Given the description of an element on the screen output the (x, y) to click on. 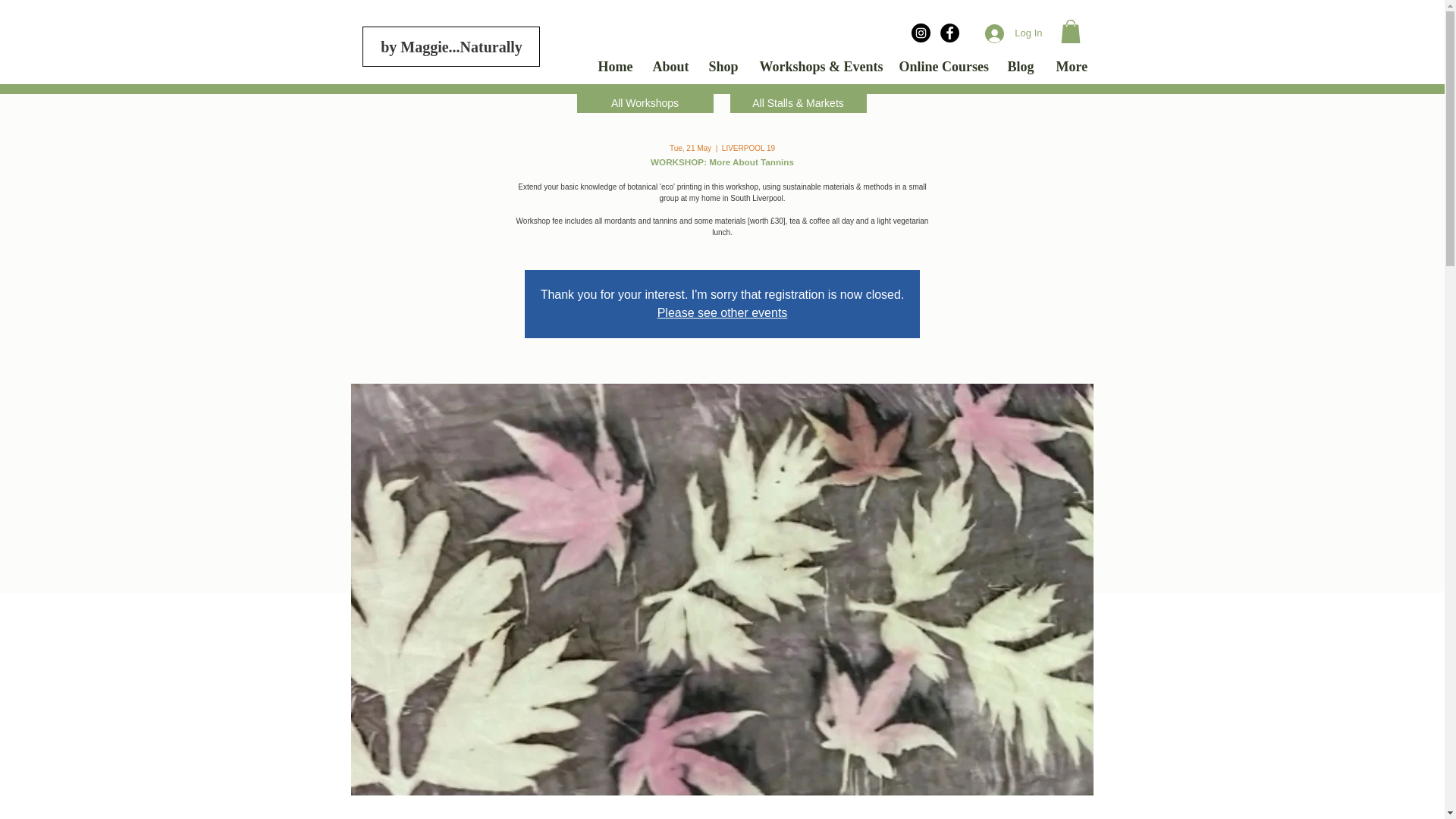
About (669, 66)
Please see other events (722, 312)
Shop (722, 66)
Log In (1013, 33)
by Maggie...Naturally (451, 46)
Online Courses (940, 66)
All Workshops (644, 103)
Home (614, 66)
Blog (1020, 66)
